Given the description of an element on the screen output the (x, y) to click on. 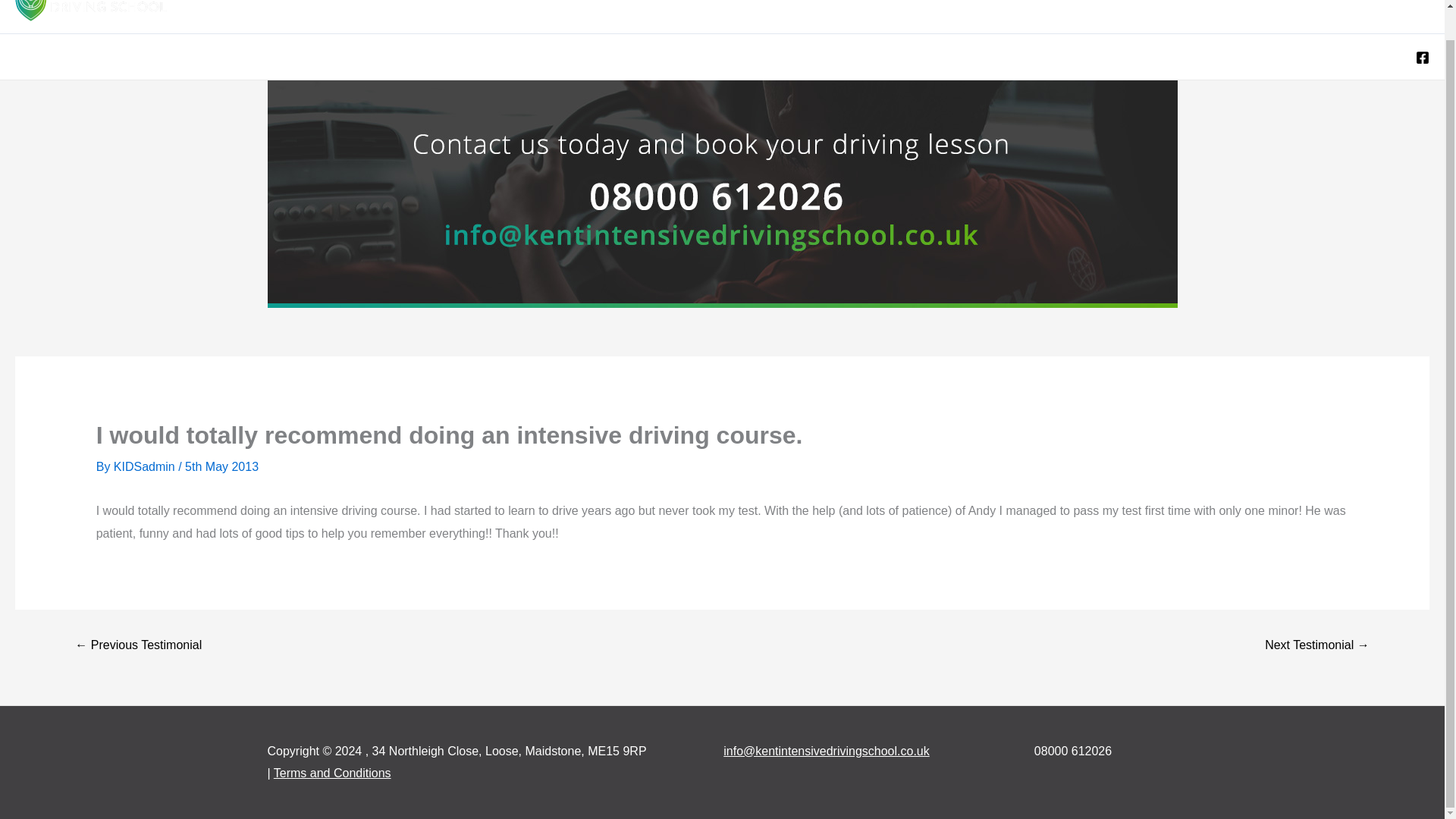
Areas Covered (676, 11)
Home (588, 11)
About Us (1308, 11)
Congratulations Ethan! (133, 193)
View all posts by KIDSadmin (145, 466)
Testimonials (1225, 11)
Contact Us (1387, 11)
Tests (1024, 11)
